Given the description of an element on the screen output the (x, y) to click on. 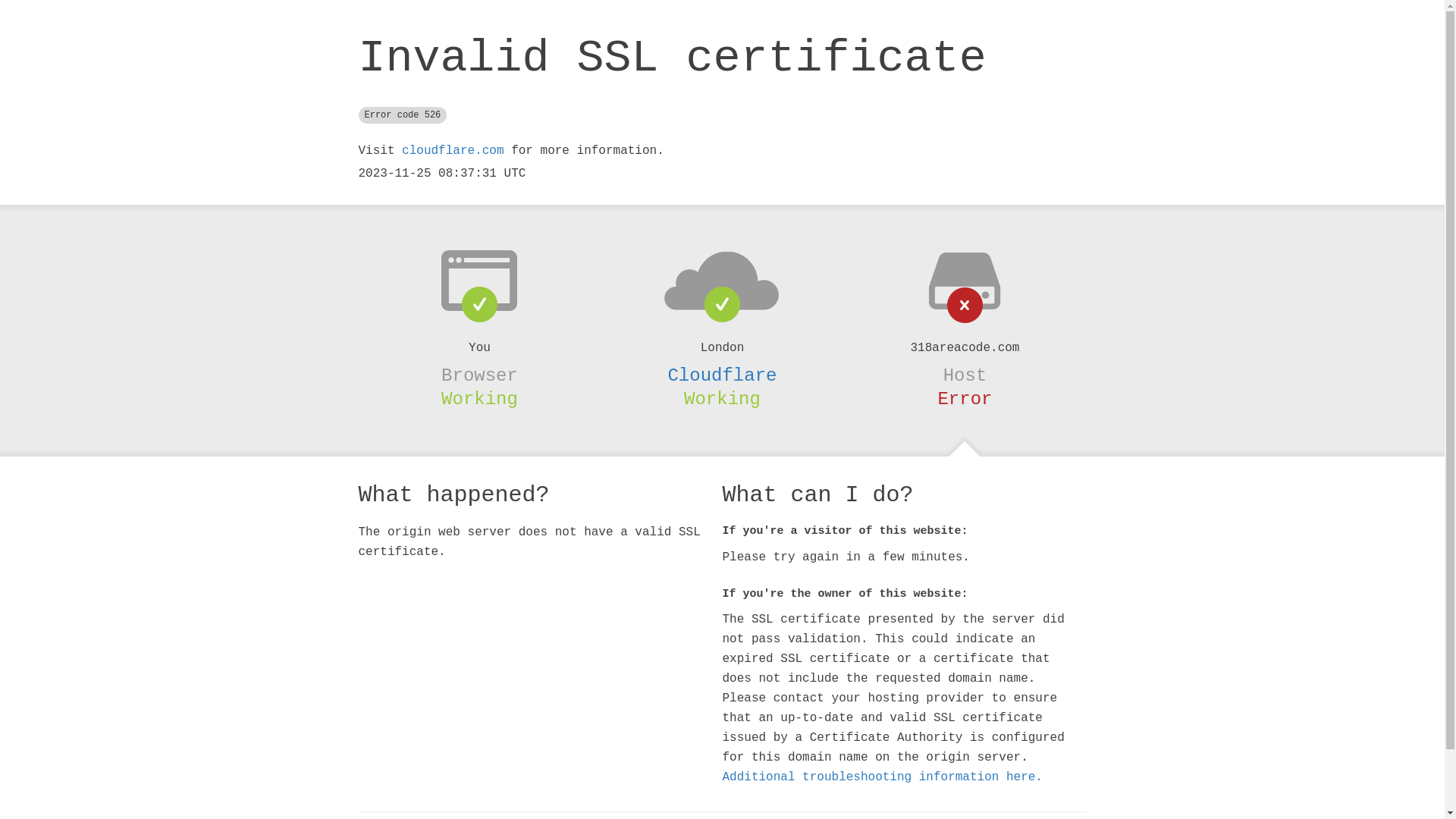
Cloudflare Element type: text (721, 375)
cloudflare.com Element type: text (452, 150)
Additional troubleshooting information here. Element type: text (881, 777)
